Given the description of an element on the screen output the (x, y) to click on. 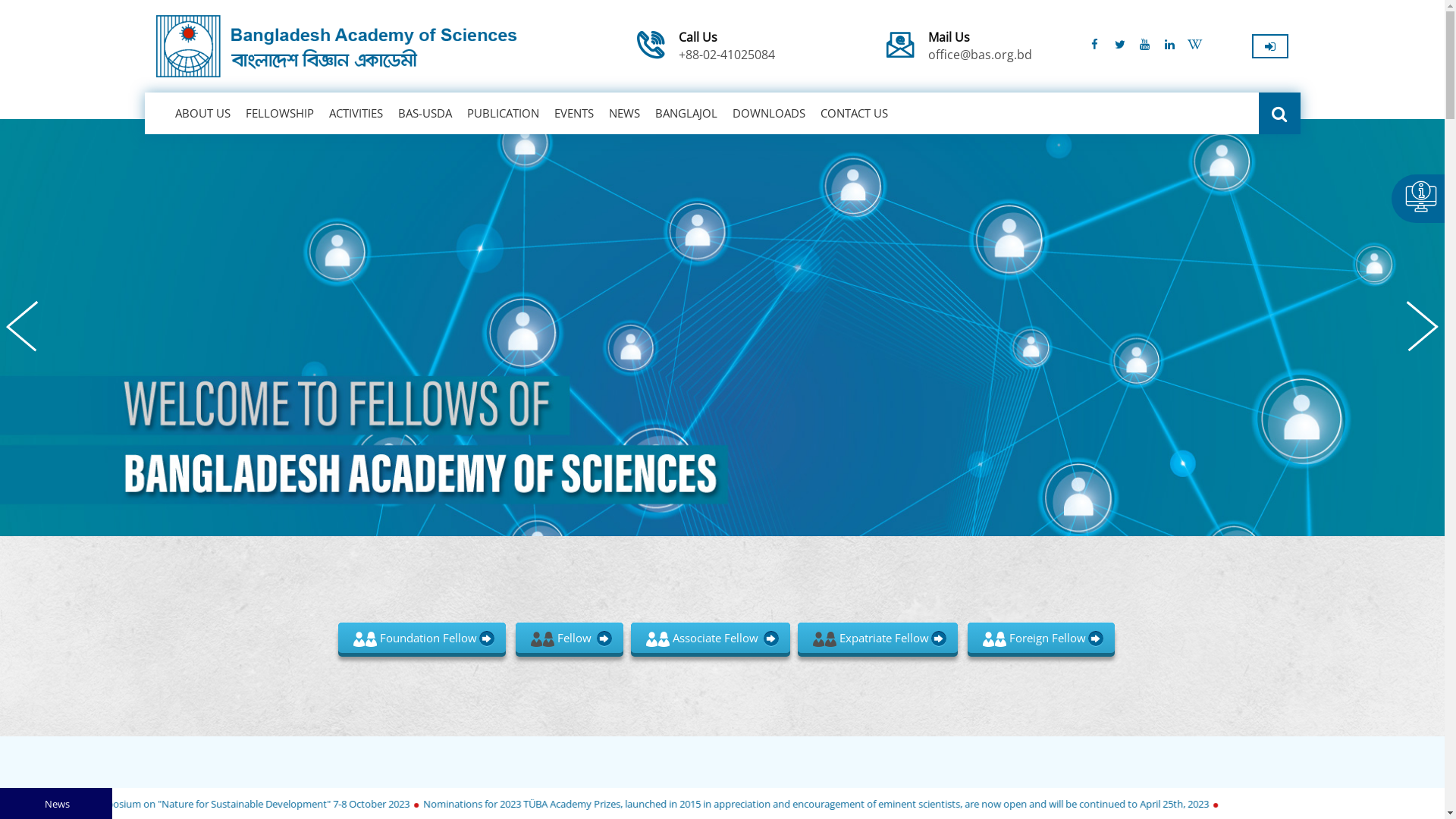
PUBLICATION Element type: text (503, 113)
Expatriate Fellow Element type: text (877, 637)
ABOUT US Element type: text (186, 113)
Call Us
+88-02-41025084 Element type: text (726, 46)
Fellow Element type: text (569, 637)
ACTIVITIES Element type: text (355, 113)
Foreign Fellow Element type: text (1040, 637)
NEWS Element type: text (623, 113)
CONTACT US Element type: text (854, 113)
Foundation Fellow Element type: text (421, 637)
DOWNLOADS Element type: text (768, 113)
FELLOWSHIP Element type: text (279, 113)
EVENTS Element type: text (573, 113)
Associate Fellow Element type: text (710, 637)
Mail Us
office@bas.org.bd Element type: text (980, 46)
BAS-USDA Element type: text (424, 113)
BANGLAJOL Element type: text (686, 113)
